Given the description of an element on the screen output the (x, y) to click on. 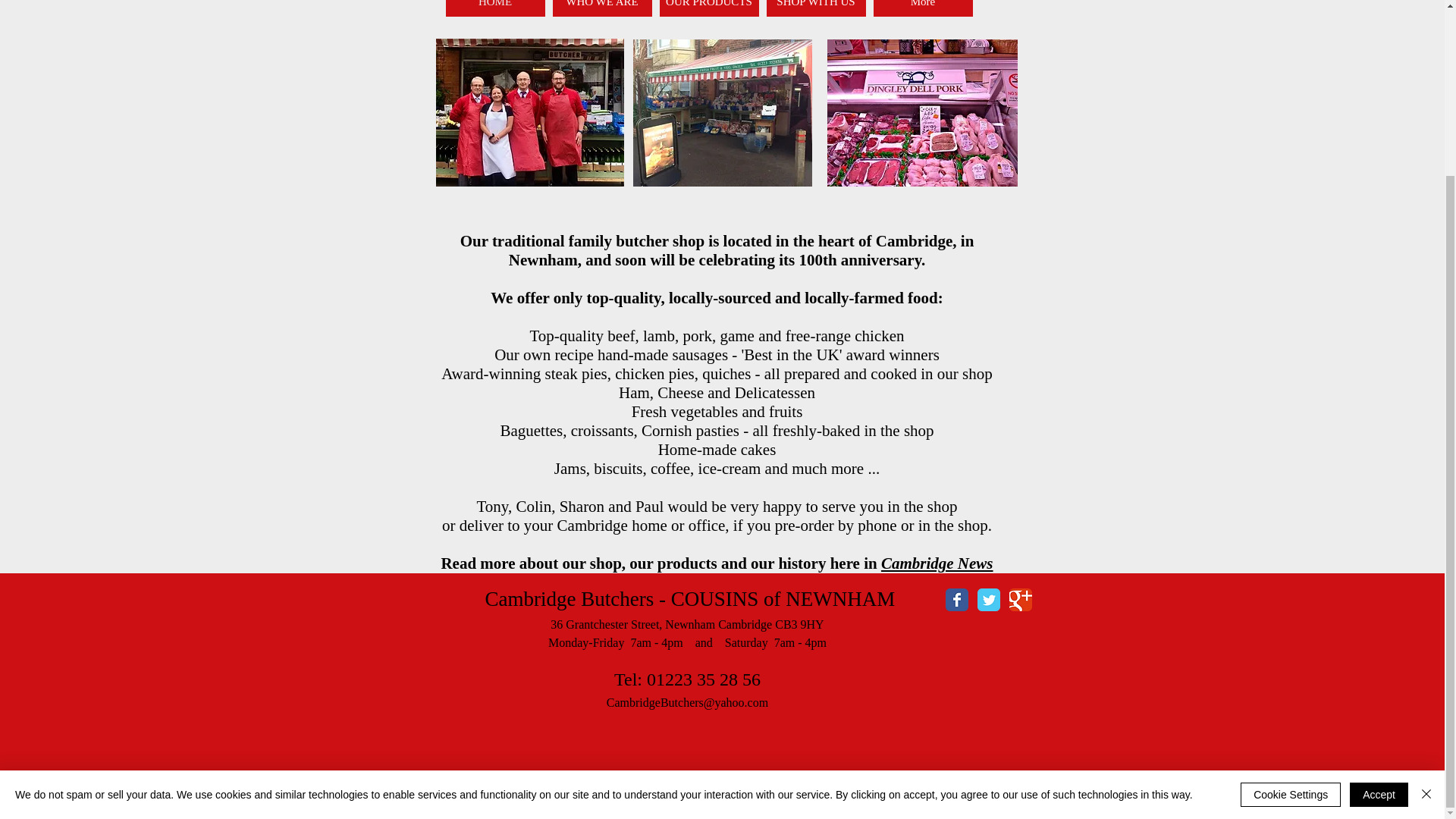
Cambridge News (936, 563)
Cookie Settings (1290, 580)
HOME (494, 8)
Cambridge Butchers local shop in Cambridge (720, 112)
SHOP WITH US (814, 8)
Traditional butcher shop in Newnham (529, 112)
Wide great selections of top quality local meat (921, 112)
Accept (1378, 580)
OUR PRODUCTS (708, 8)
WHO WE ARE (600, 8)
